Given the description of an element on the screen output the (x, y) to click on. 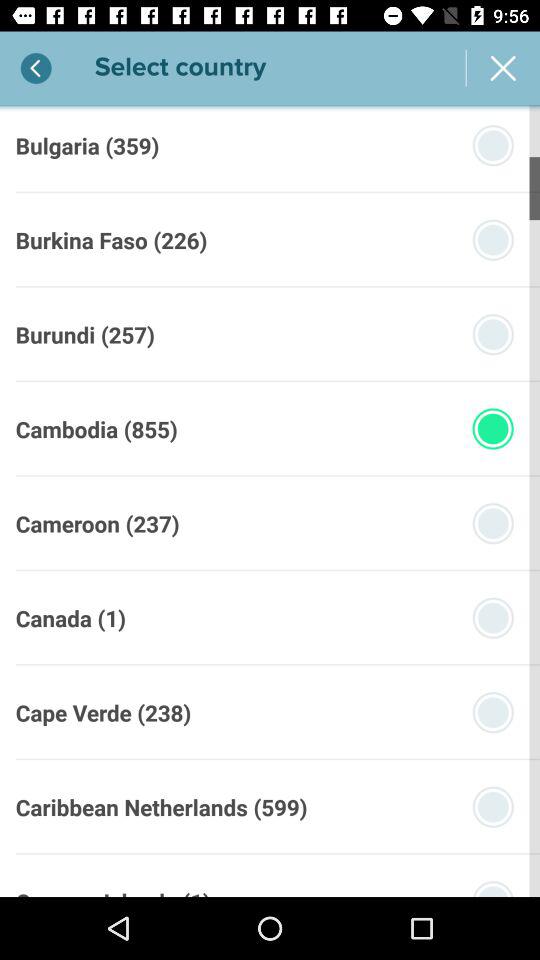
flip until the cambodia (855) (96, 429)
